Given the description of an element on the screen output the (x, y) to click on. 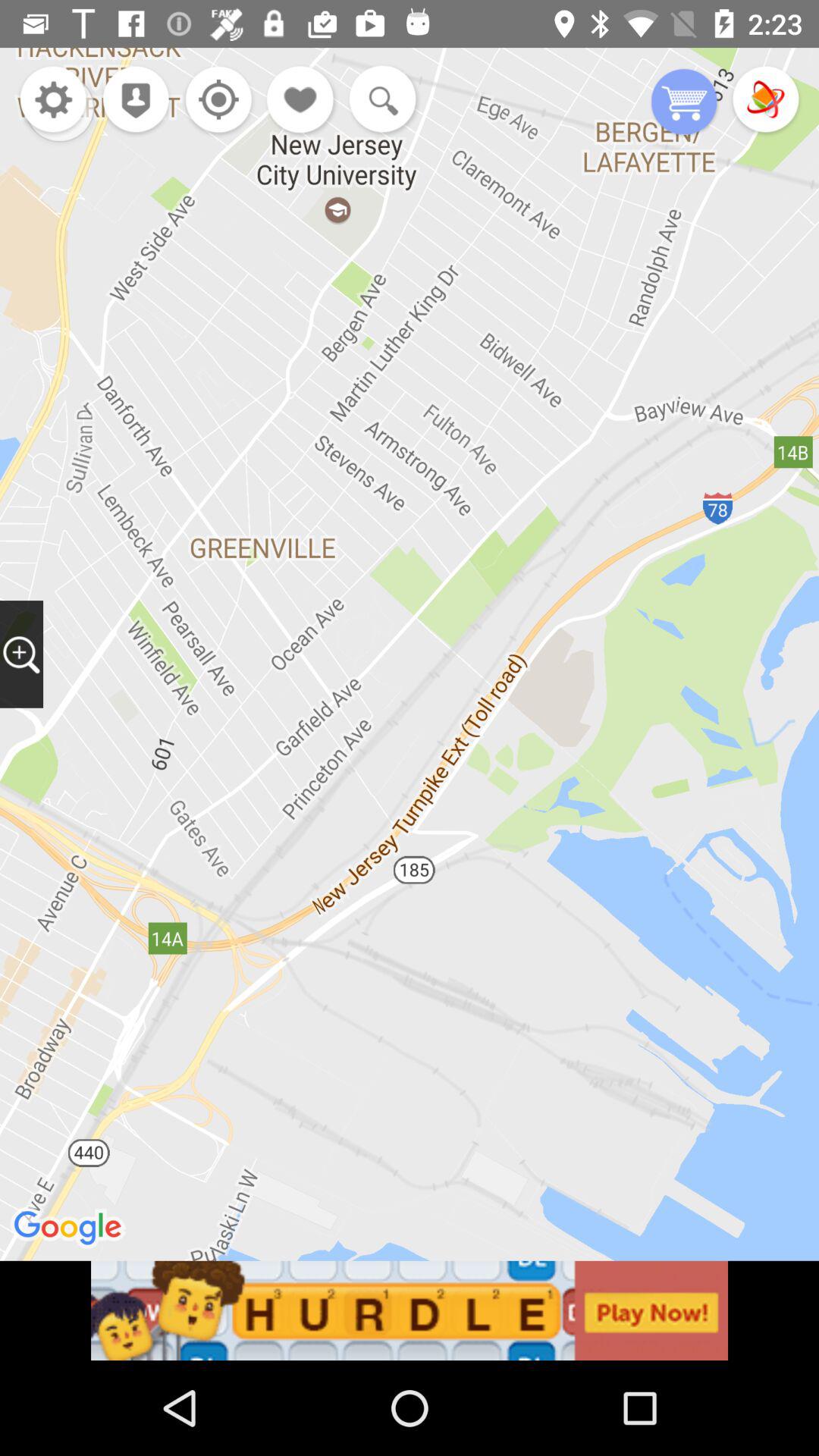
go to like (300, 101)
